Given the description of an element on the screen output the (x, y) to click on. 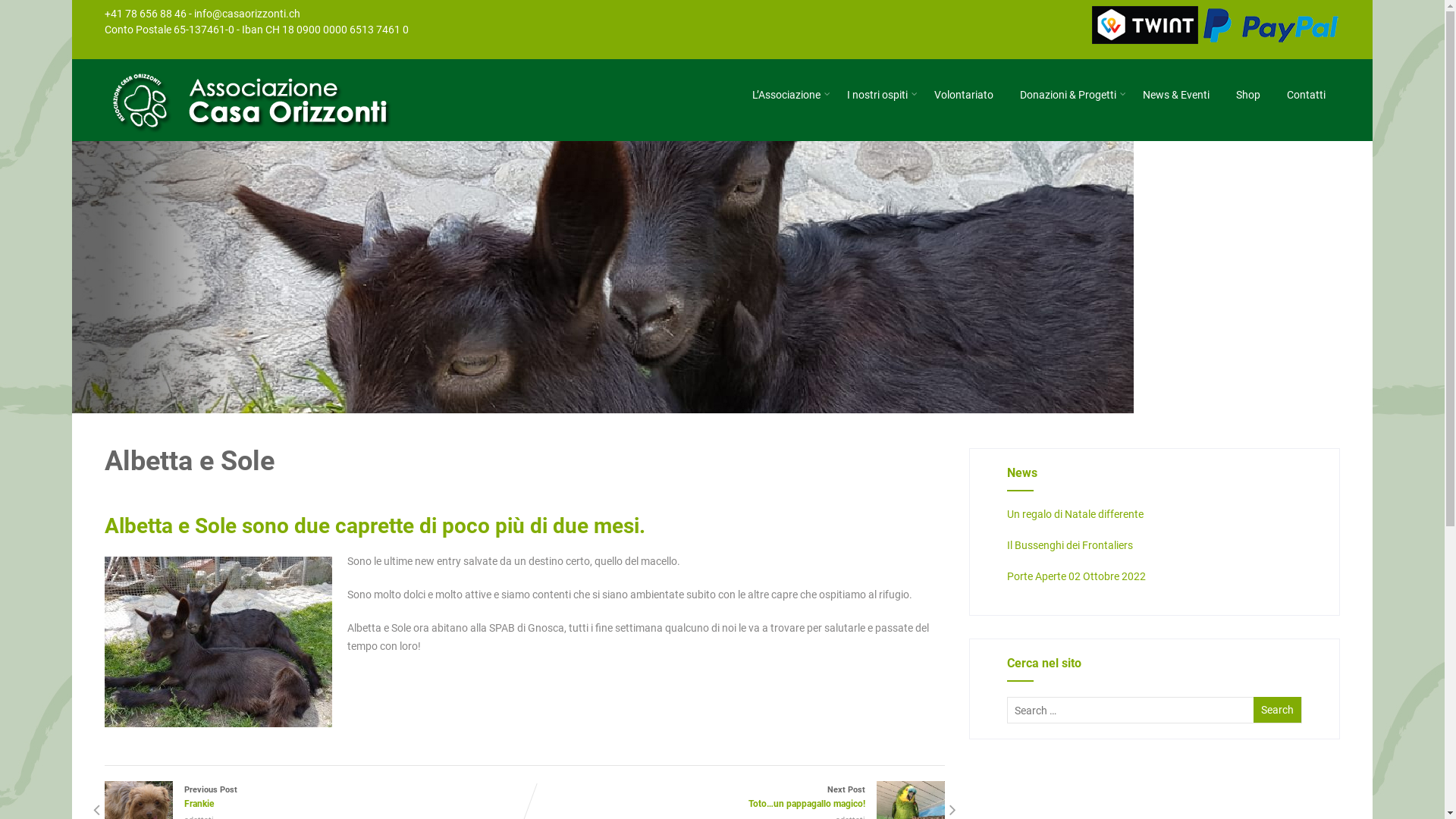
Un regalo di Natale differente Element type: text (1075, 514)
Shop Element type: text (1247, 94)
Previous Post
Frankie Element type: text (314, 797)
Contatti Element type: text (1305, 94)
I nostri ospiti Element type: text (876, 94)
- info@casaorizzonti.ch Element type: text (244, 13)
Donazioni & Progetti Element type: text (1067, 94)
Porte Aperte 02 Ottobre 2022 Element type: text (1076, 576)
Il Bussenghi dei Frontaliers Element type: text (1069, 545)
Casa Orizzonti Element type: hover (265, 132)
News & Eventi Element type: text (1175, 94)
Volontariato Element type: text (963, 94)
Search Element type: text (1277, 709)
